Given the description of an element on the screen output the (x, y) to click on. 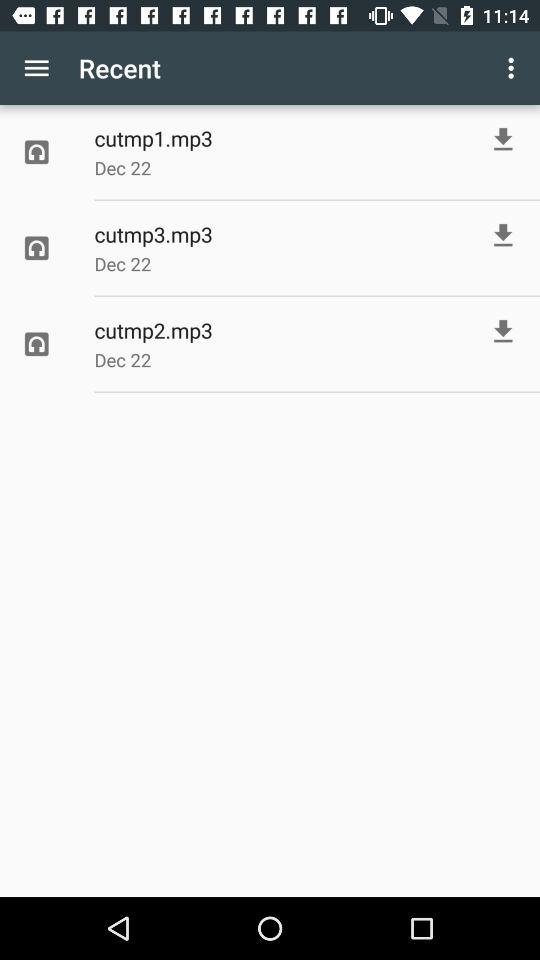
launch the app next to recent app (513, 67)
